Given the description of an element on the screen output the (x, y) to click on. 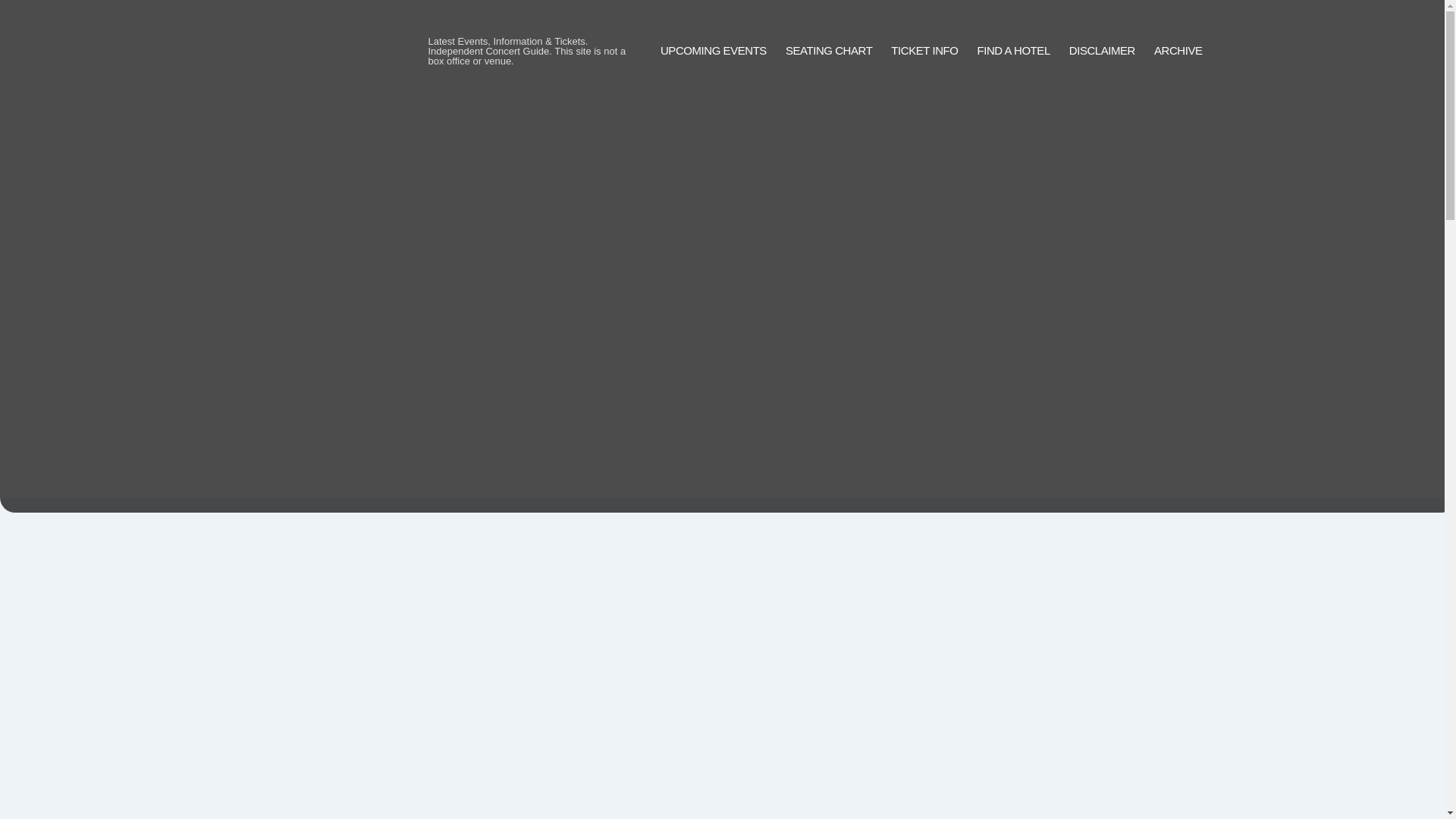
TICKET INFO (924, 50)
FIND A HOTEL (1012, 50)
DISCLAIMER (1101, 50)
SEATING CHART (829, 50)
ARCHIVE (1178, 50)
UPCOMING EVENTS (714, 50)
